Given the description of an element on the screen output the (x, y) to click on. 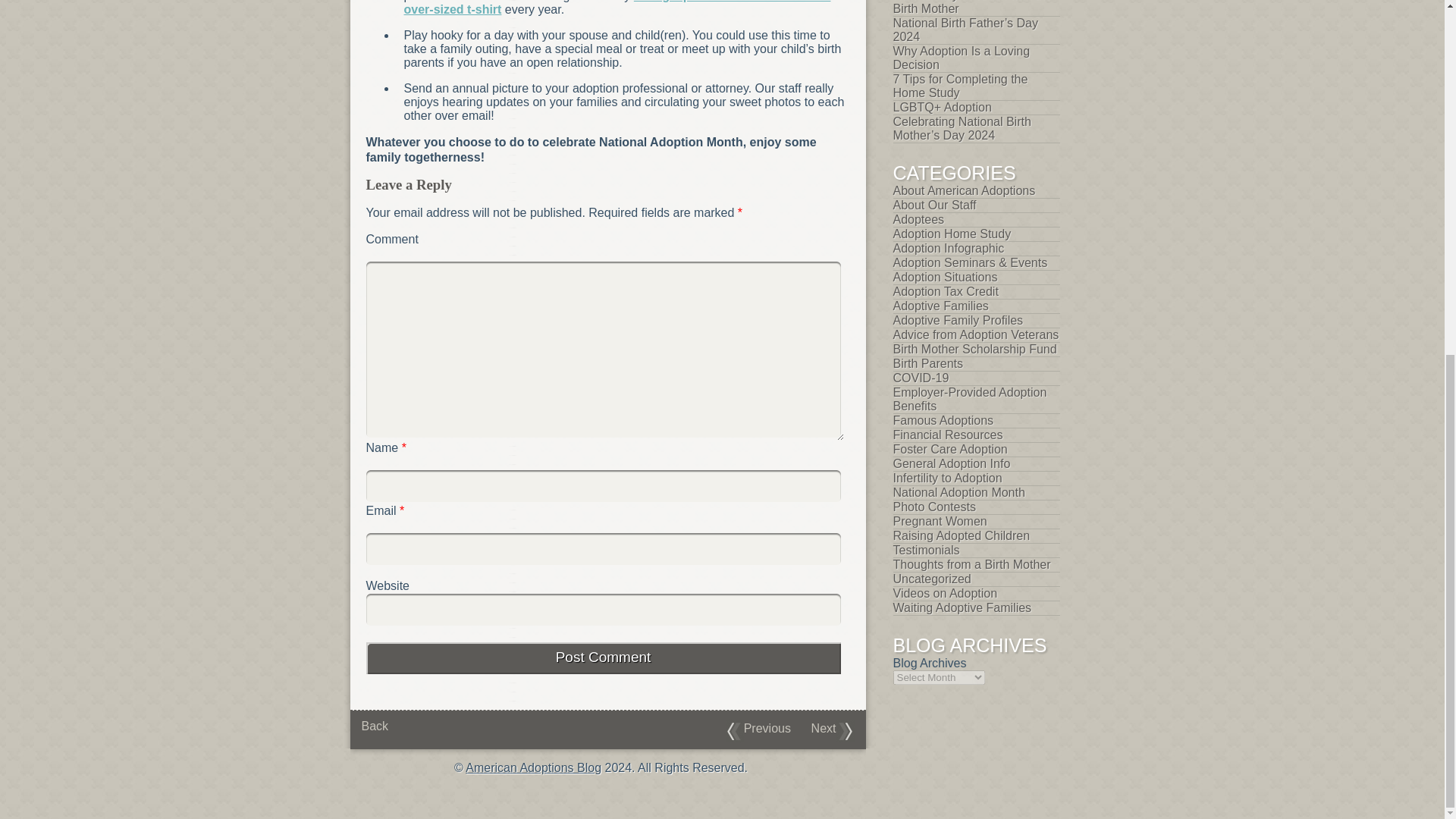
Post Comment (602, 658)
taking a picture of her in the same over-sized t-shirt (616, 7)
Post Comment (602, 658)
